Given the description of an element on the screen output the (x, y) to click on. 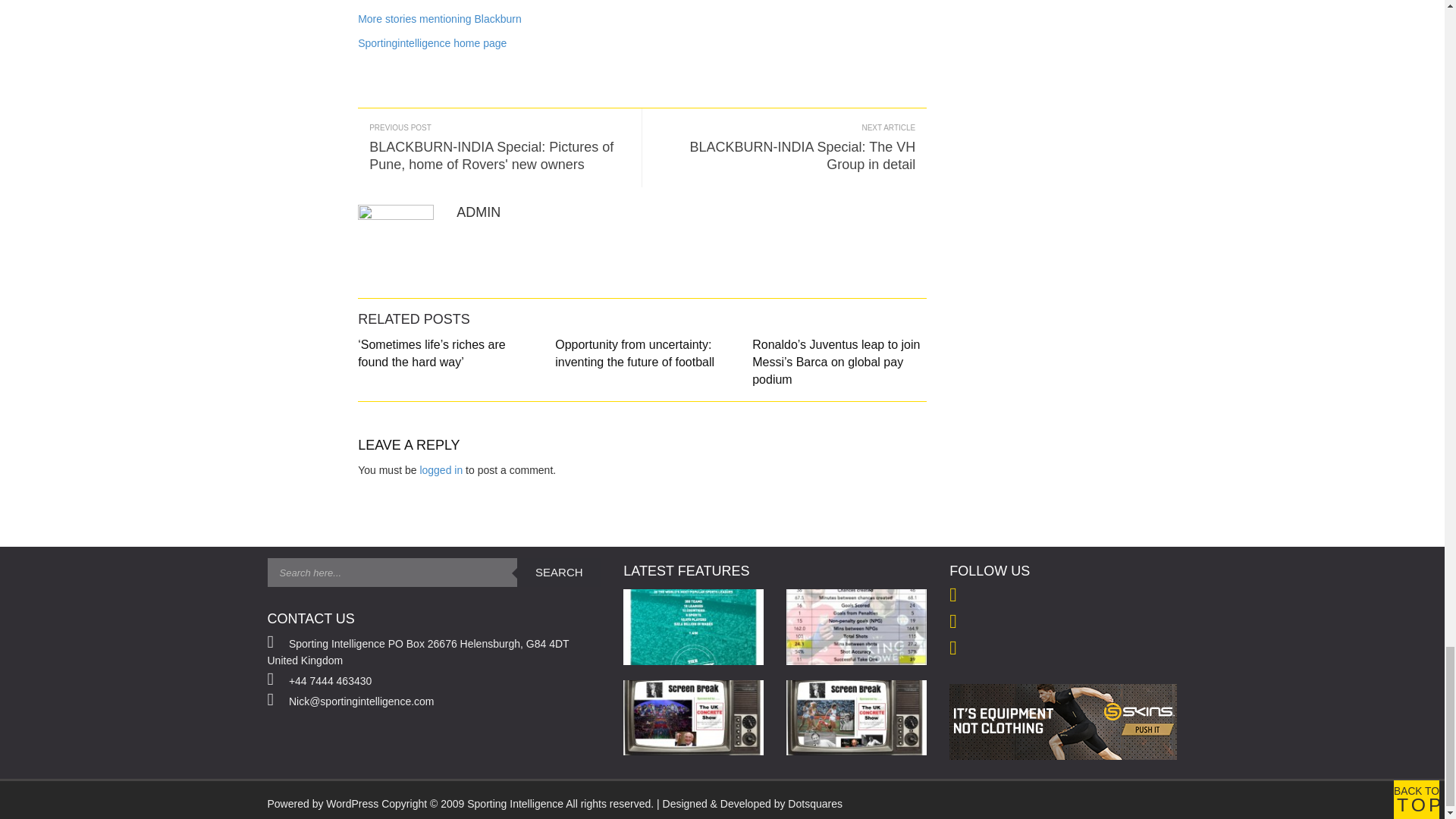
Search (557, 572)
Search (557, 572)
